Given the description of an element on the screen output the (x, y) to click on. 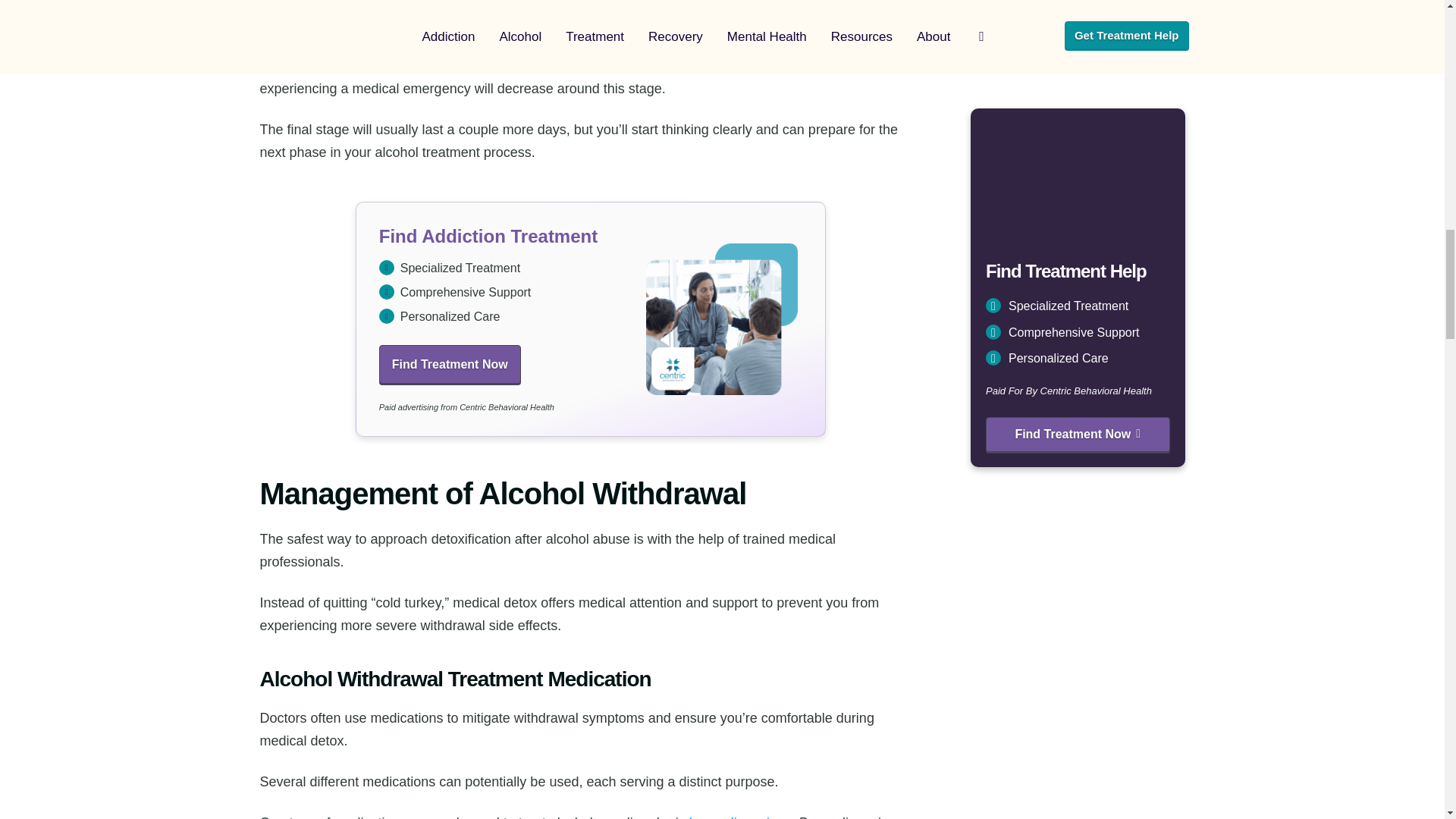
Find Treatment Now (449, 364)
Find Addiction Treatment (590, 319)
